Given the description of an element on the screen output the (x, y) to click on. 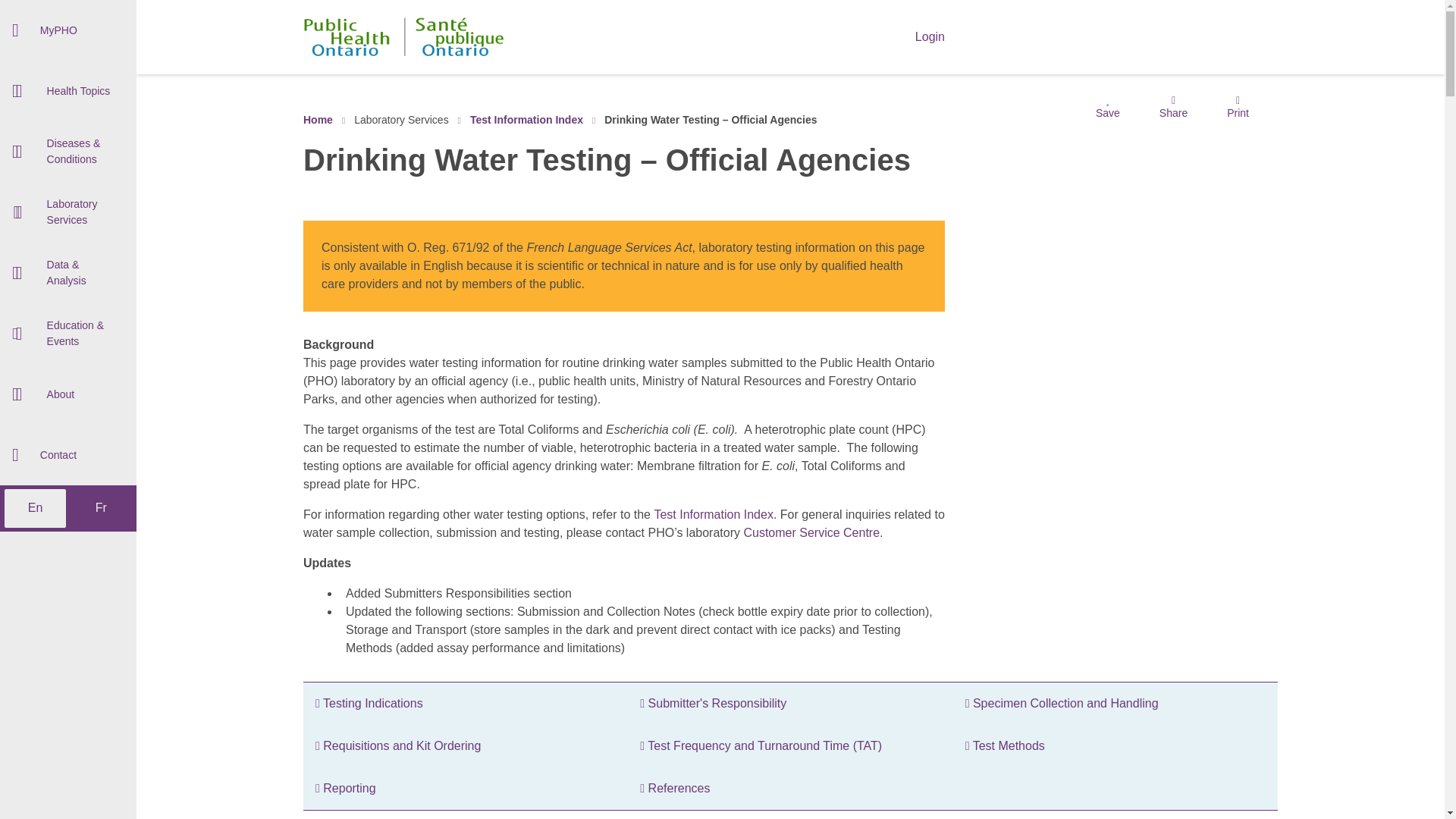
Health Hazards (68, 251)
Health Promotion (68, 234)
Mental Health (68, 274)
Antimicrobial Stewardship in Primary Care (68, 156)
Antimicrobial Stewardship Strategies (68, 195)
Urinary Tract Infection Program (68, 302)
Environmental and Occupational Health (68, 37)
Antimicrobial Stewardship (68, 76)
Health Topics (68, 90)
Antimicrobial Stewardship in Acute Care (68, 77)
Emergency Preparedness (68, 115)
Antimicrobial Stewardship (68, 28)
Food Safety (68, 173)
Air Quality (68, 93)
MyPHO (68, 30)
